Given the description of an element on the screen output the (x, y) to click on. 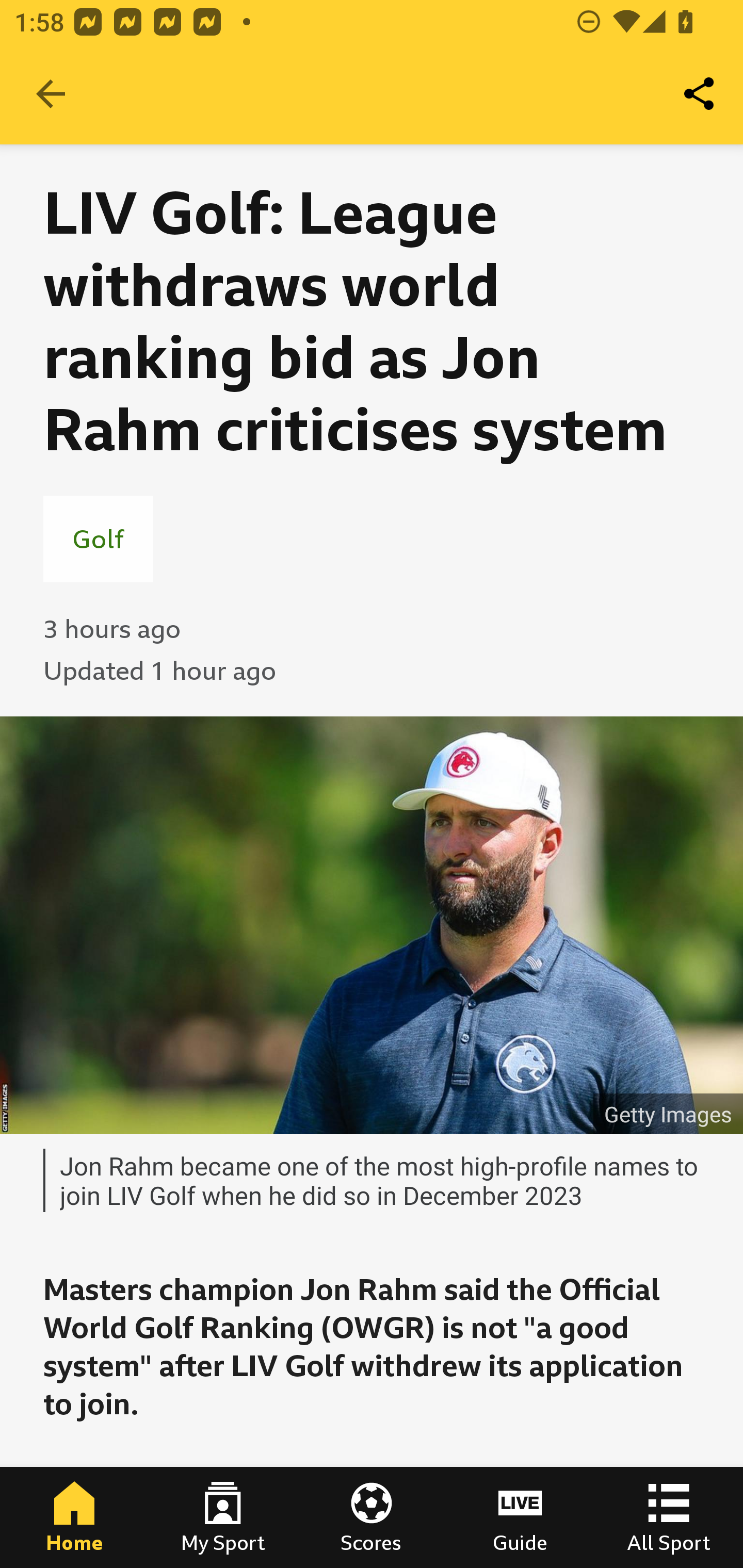
Navigate up (50, 93)
Share (699, 93)
Golf (98, 538)
My Sport (222, 1517)
Scores (371, 1517)
Guide (519, 1517)
All Sport (668, 1517)
